Given the description of an element on the screen output the (x, y) to click on. 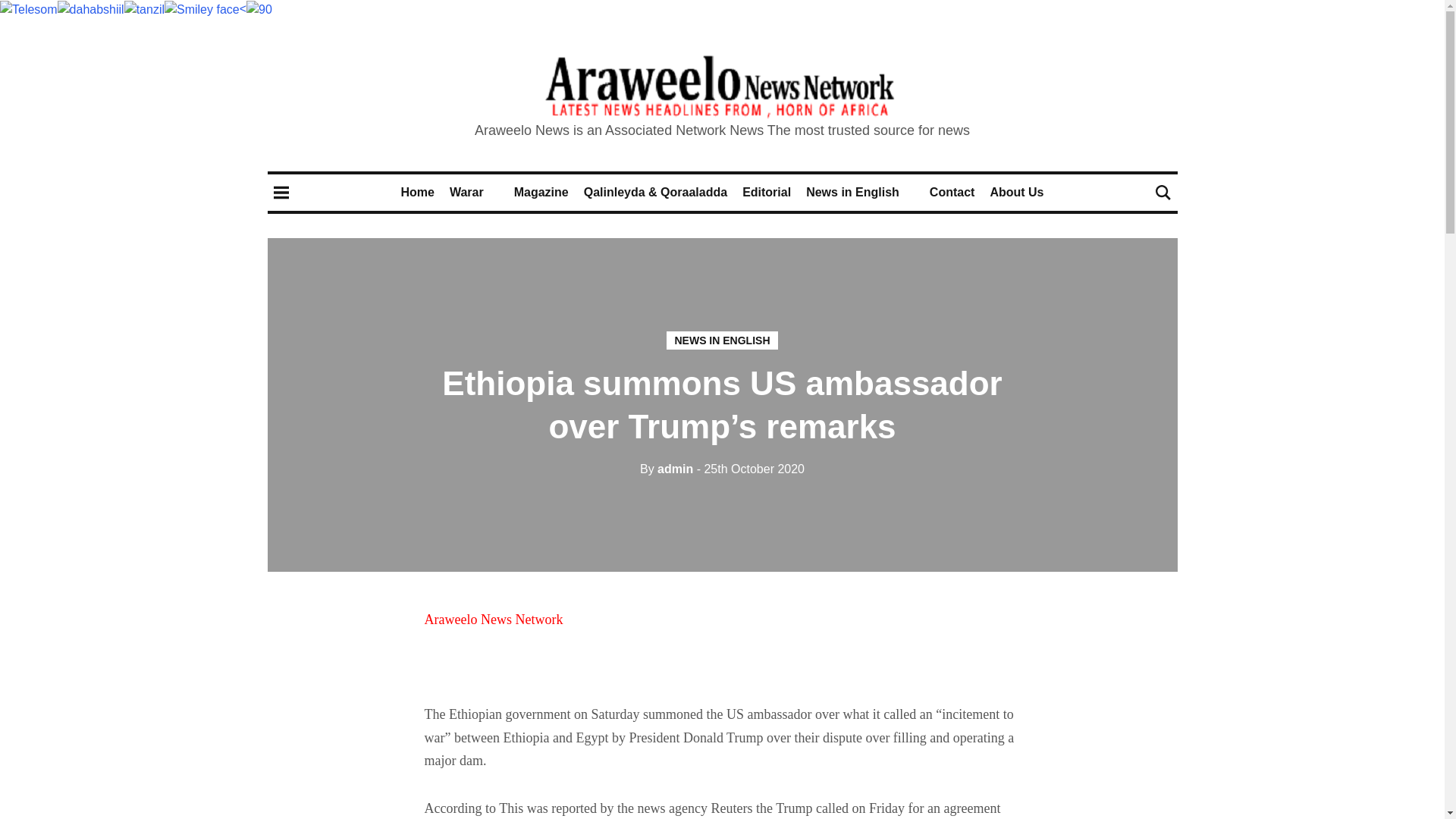
News in English (852, 192)
About Us (1016, 192)
Magazine (541, 192)
Warar (466, 192)
Home (416, 192)
By admin (666, 468)
Contact (952, 192)
NEWS IN ENGLISH (721, 340)
Editorial (766, 192)
